Given the description of an element on the screen output the (x, y) to click on. 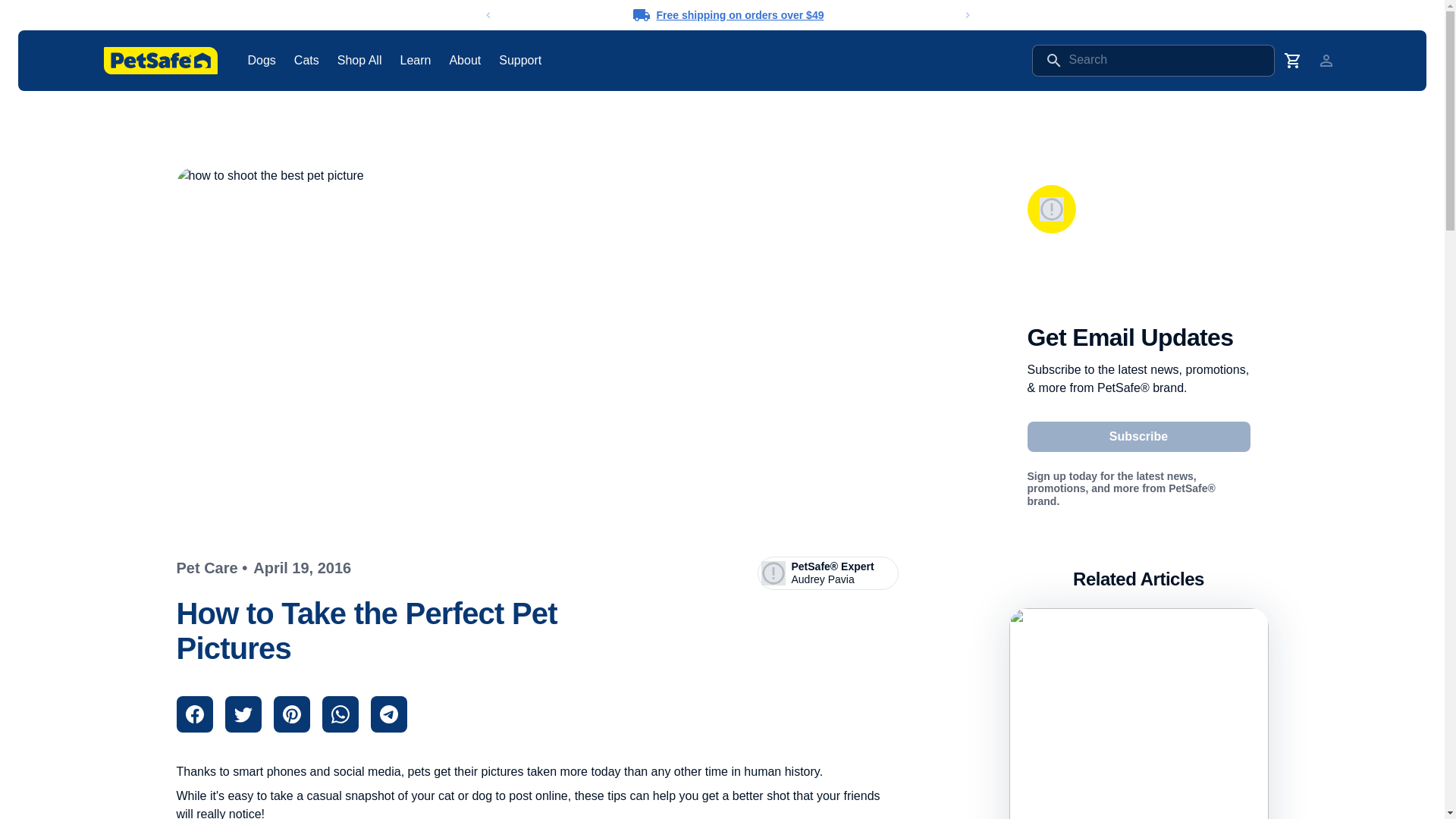
Support (520, 60)
Subscribe (1137, 436)
Learn (414, 60)
About (464, 60)
Cats (306, 60)
Dogs (261, 60)
Shop All (359, 60)
